Given the description of an element on the screen output the (x, y) to click on. 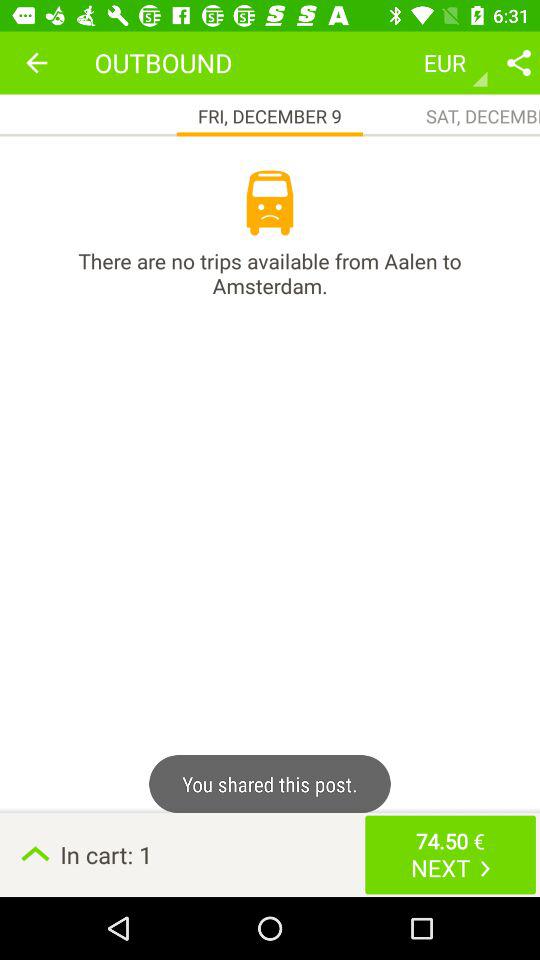
share post (519, 62)
